Given the description of an element on the screen output the (x, y) to click on. 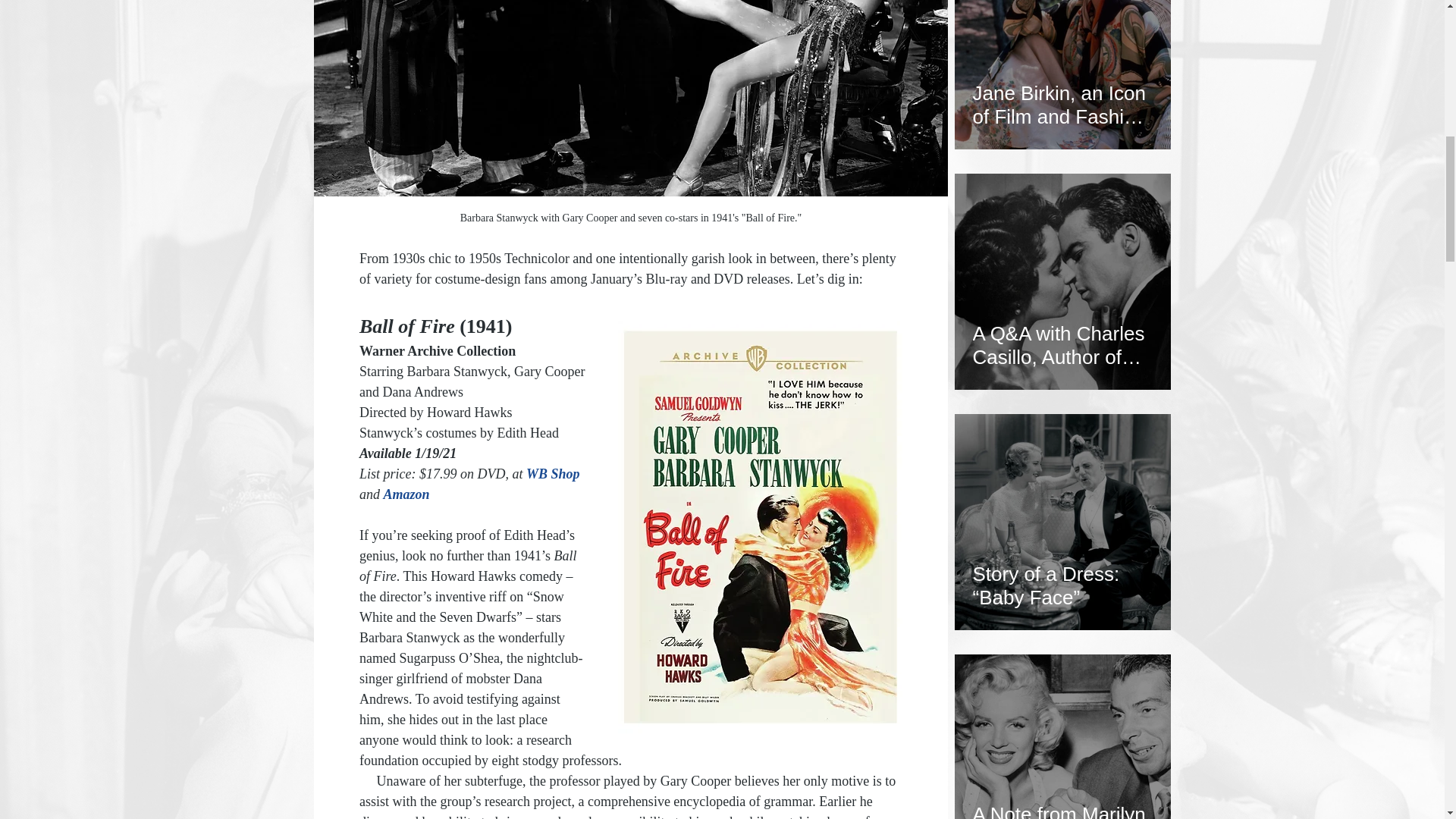
WB Shop  (554, 473)
Amazon (405, 494)
